Given the description of an element on the screen output the (x, y) to click on. 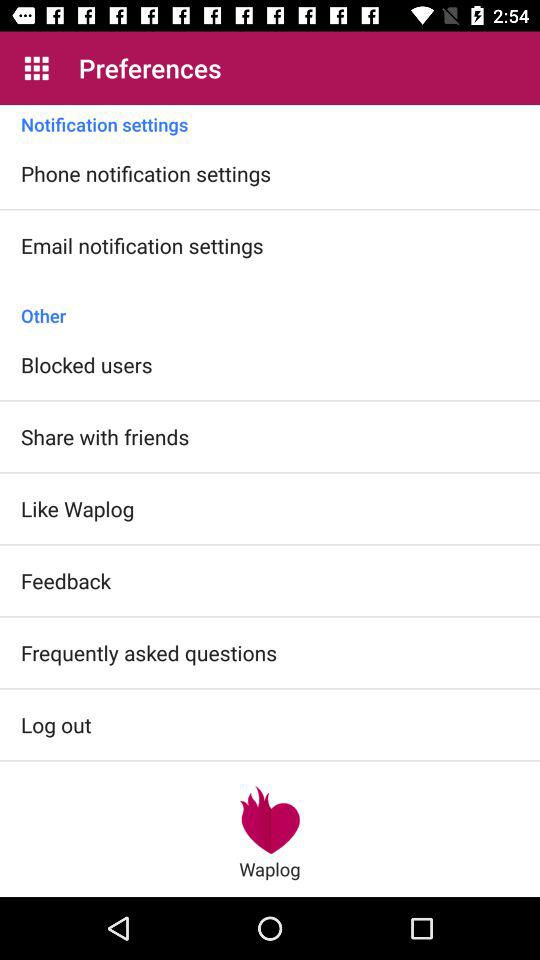
select the item above feedback icon (77, 508)
